Given the description of an element on the screen output the (x, y) to click on. 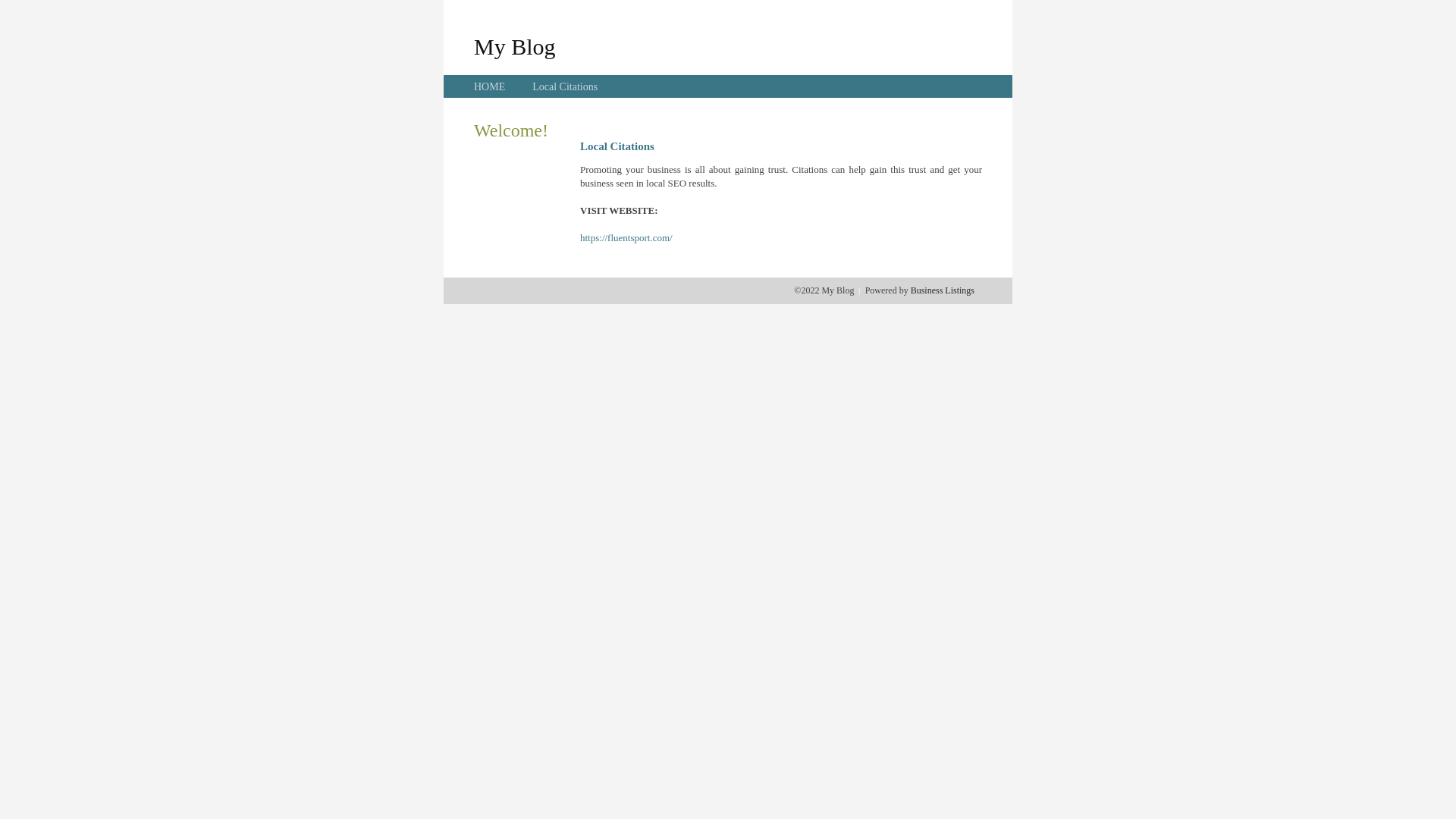
Business Listings Element type: text (942, 290)
HOME Element type: text (489, 86)
Local Citations Element type: text (564, 86)
https://fluentsport.com/ Element type: text (626, 237)
My Blog Element type: text (514, 46)
